Given the description of an element on the screen output the (x, y) to click on. 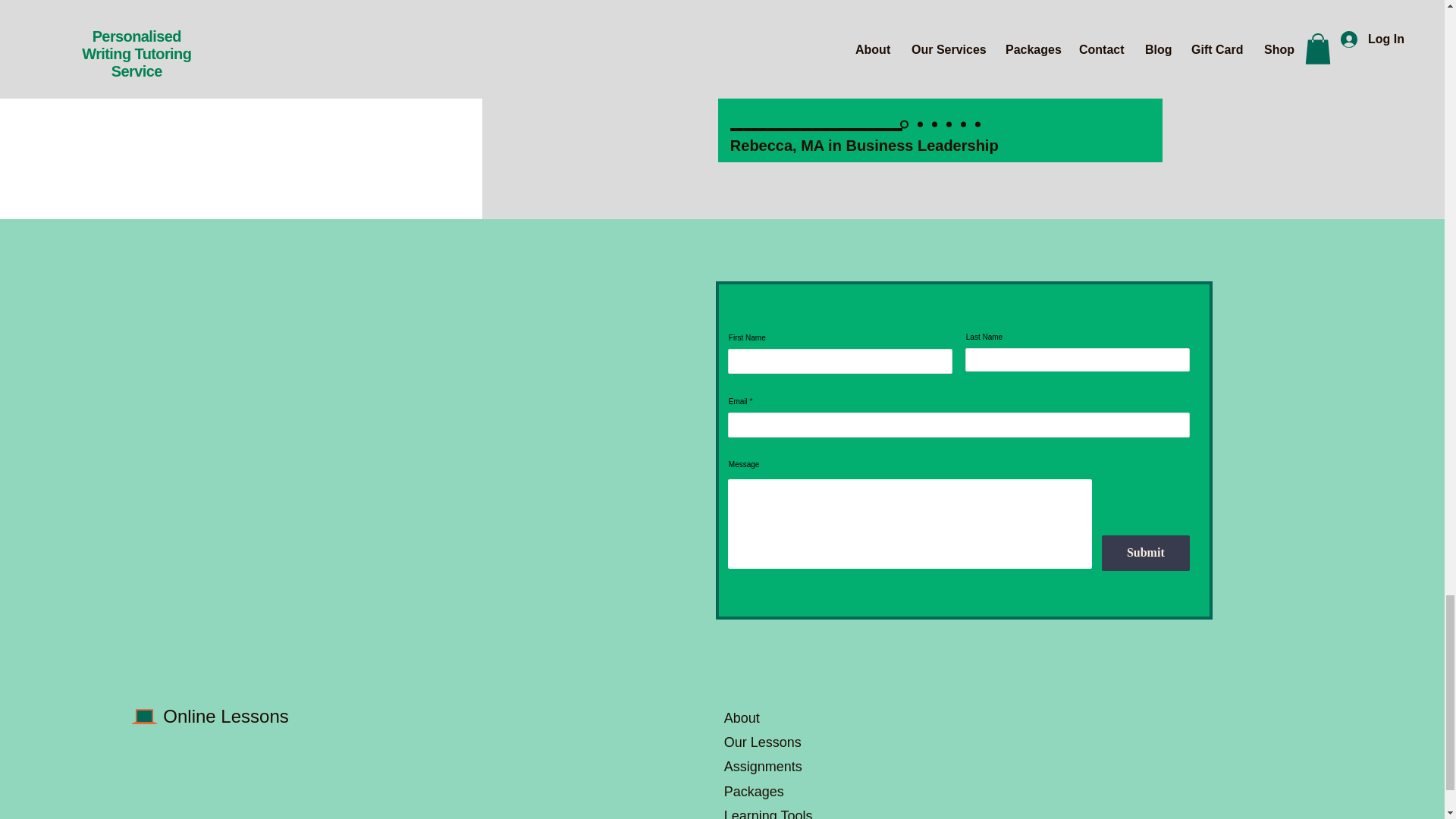
Learning Tools  (769, 813)
Assignments (762, 766)
Our Lessons (762, 742)
Online Lessons (225, 715)
About (741, 717)
Packages (753, 791)
Submit (1145, 552)
